Given the description of an element on the screen output the (x, y) to click on. 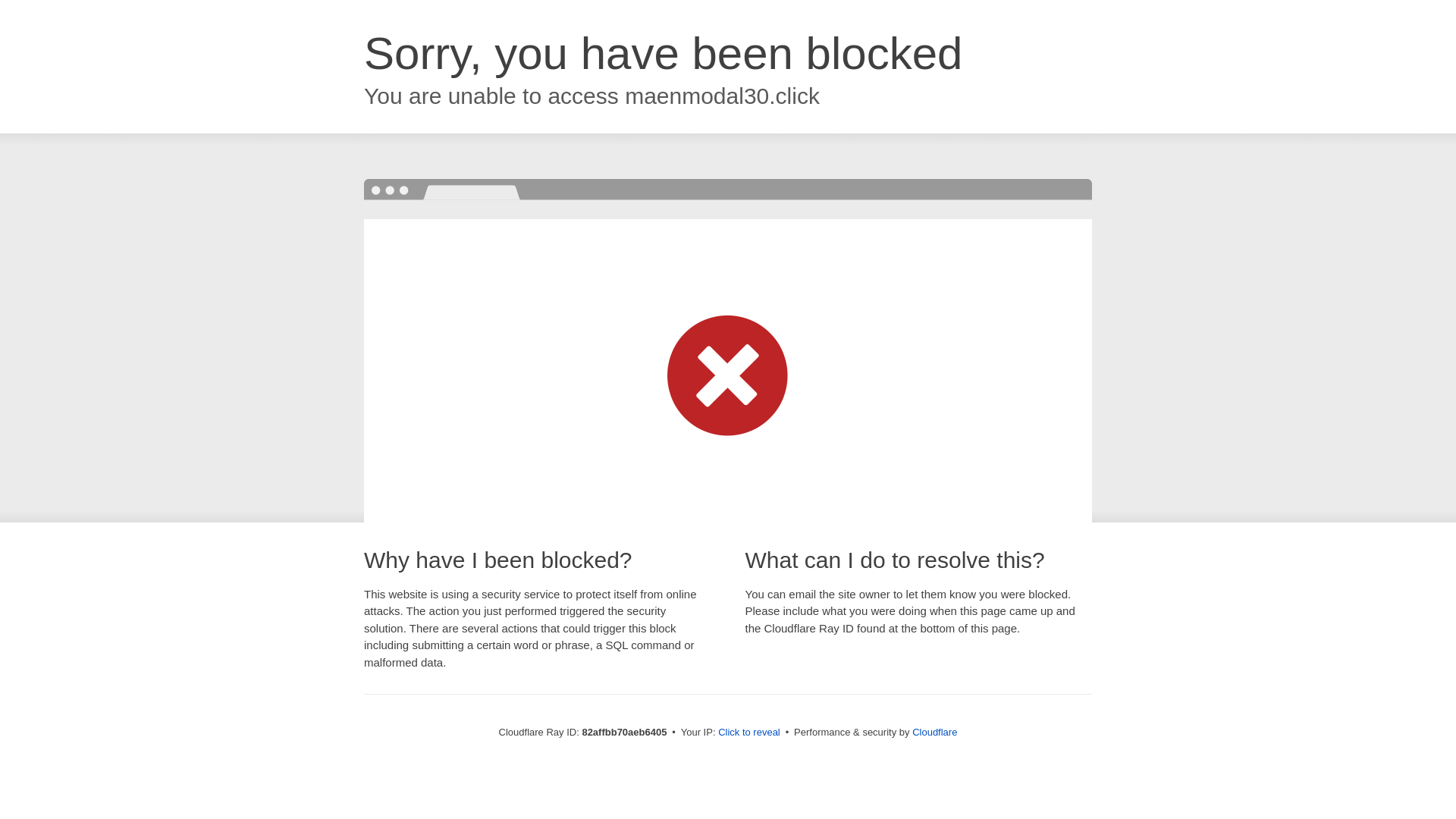
Click to reveal Element type: text (749, 732)
Cloudflare Element type: text (934, 731)
